Given the description of an element on the screen output the (x, y) to click on. 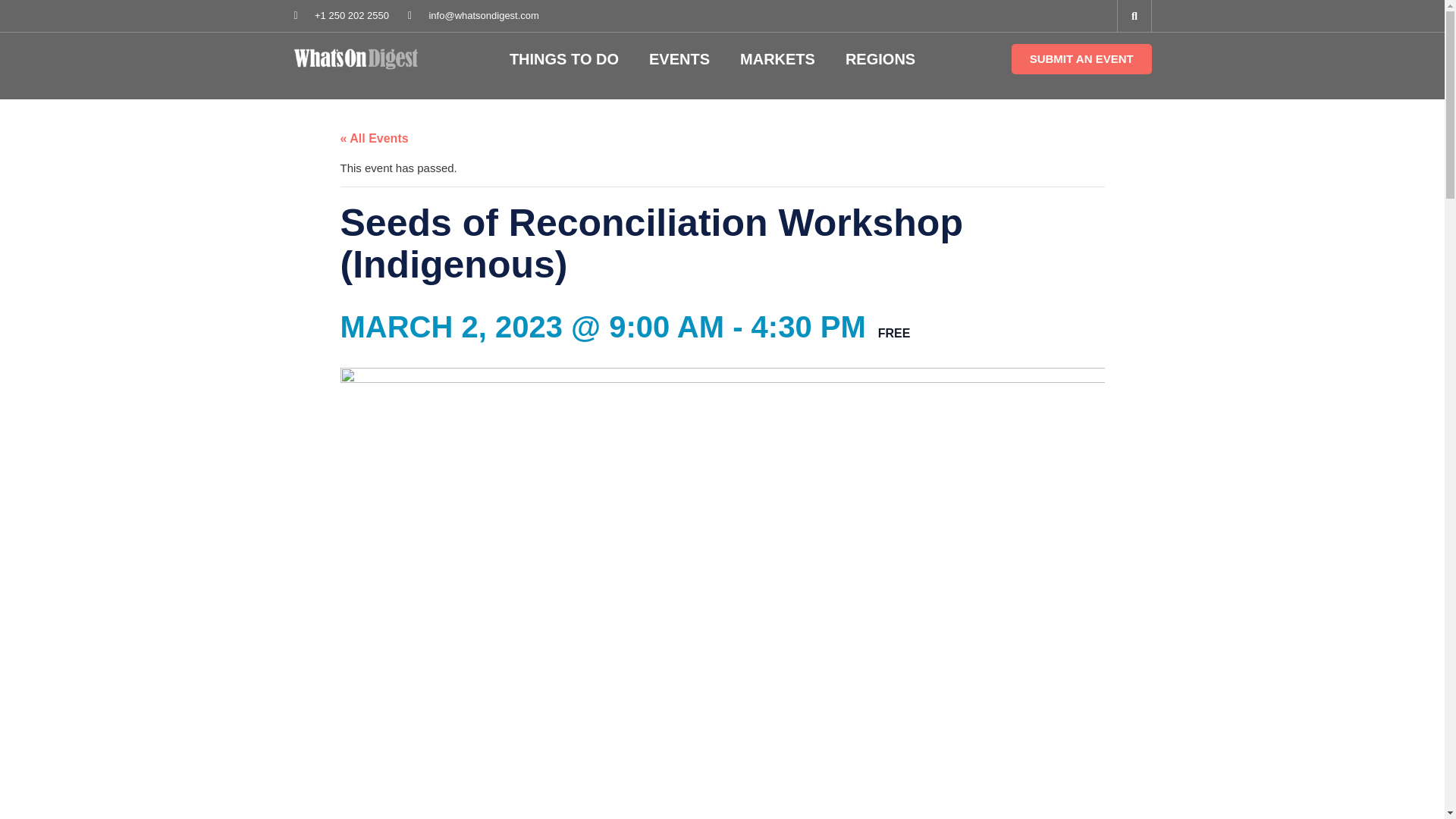
REGIONS (880, 58)
SUBMIT AN EVENT (1081, 59)
MARKETS (777, 58)
EVENTS (679, 58)
THINGS TO DO (563, 58)
